Given the description of an element on the screen output the (x, y) to click on. 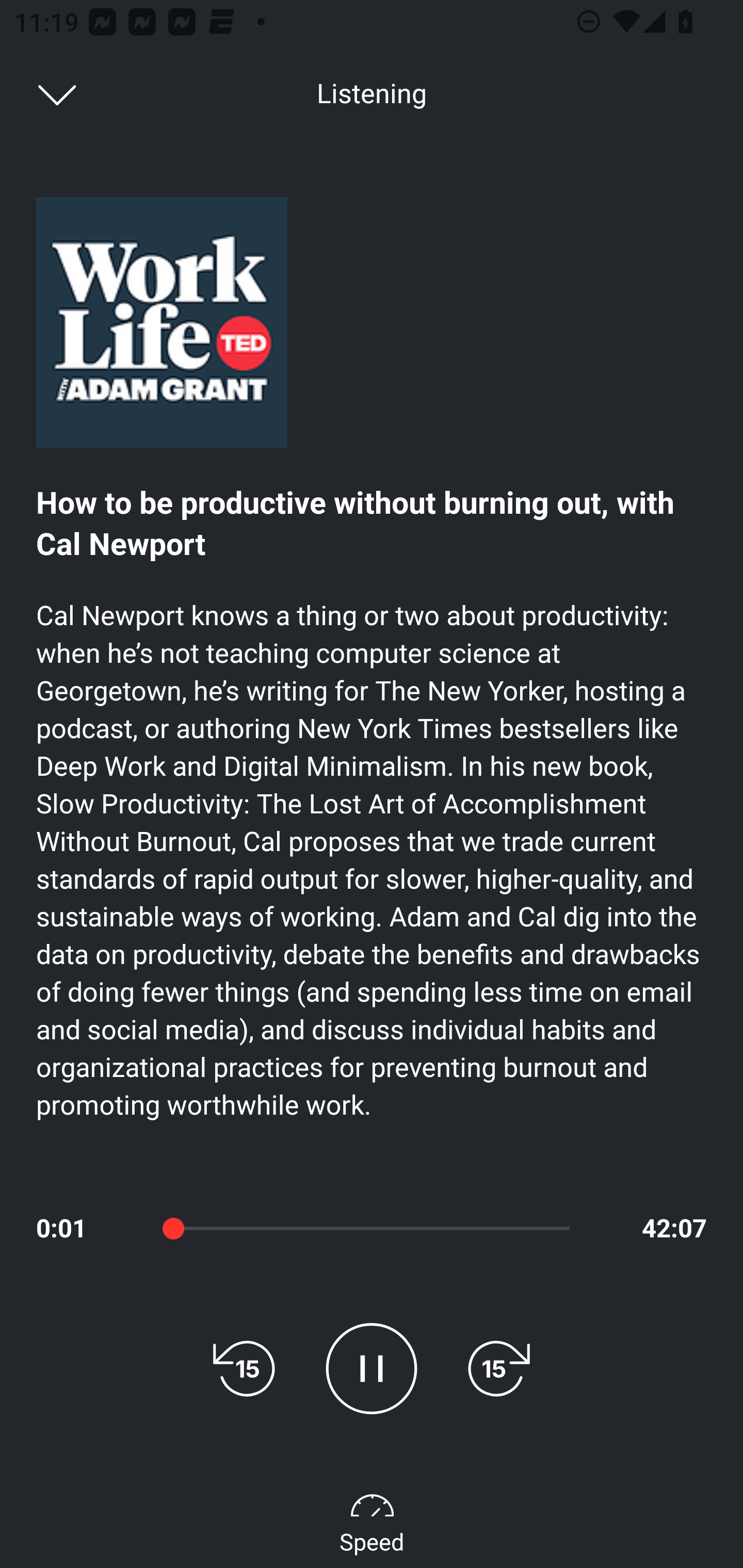
Listening (371, 93)
TED Podcasts, back (47, 92)
Speed (371, 1520)
